Given the description of an element on the screen output the (x, y) to click on. 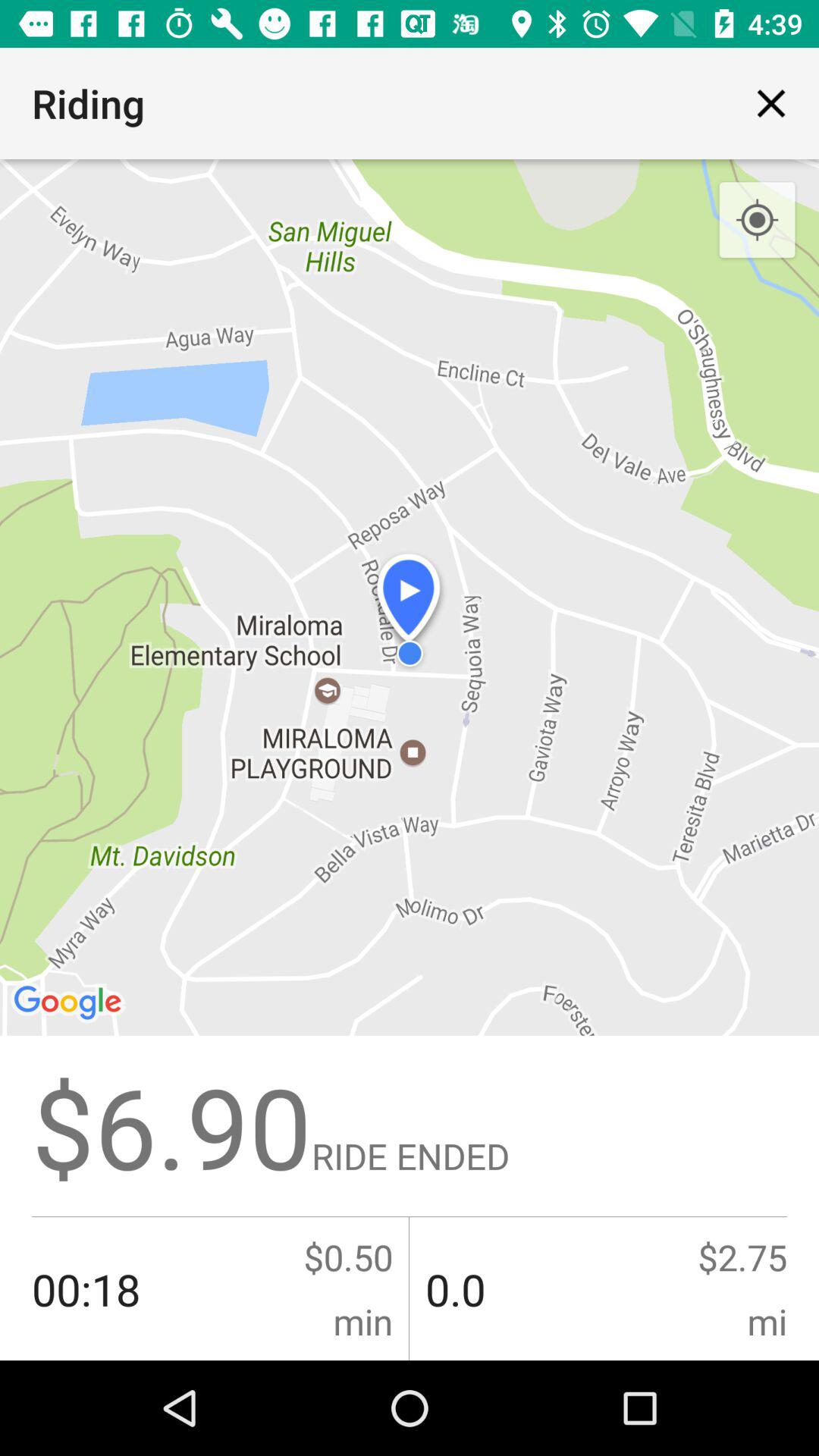
press the icon at the center (409, 759)
